Given the description of an element on the screen output the (x, y) to click on. 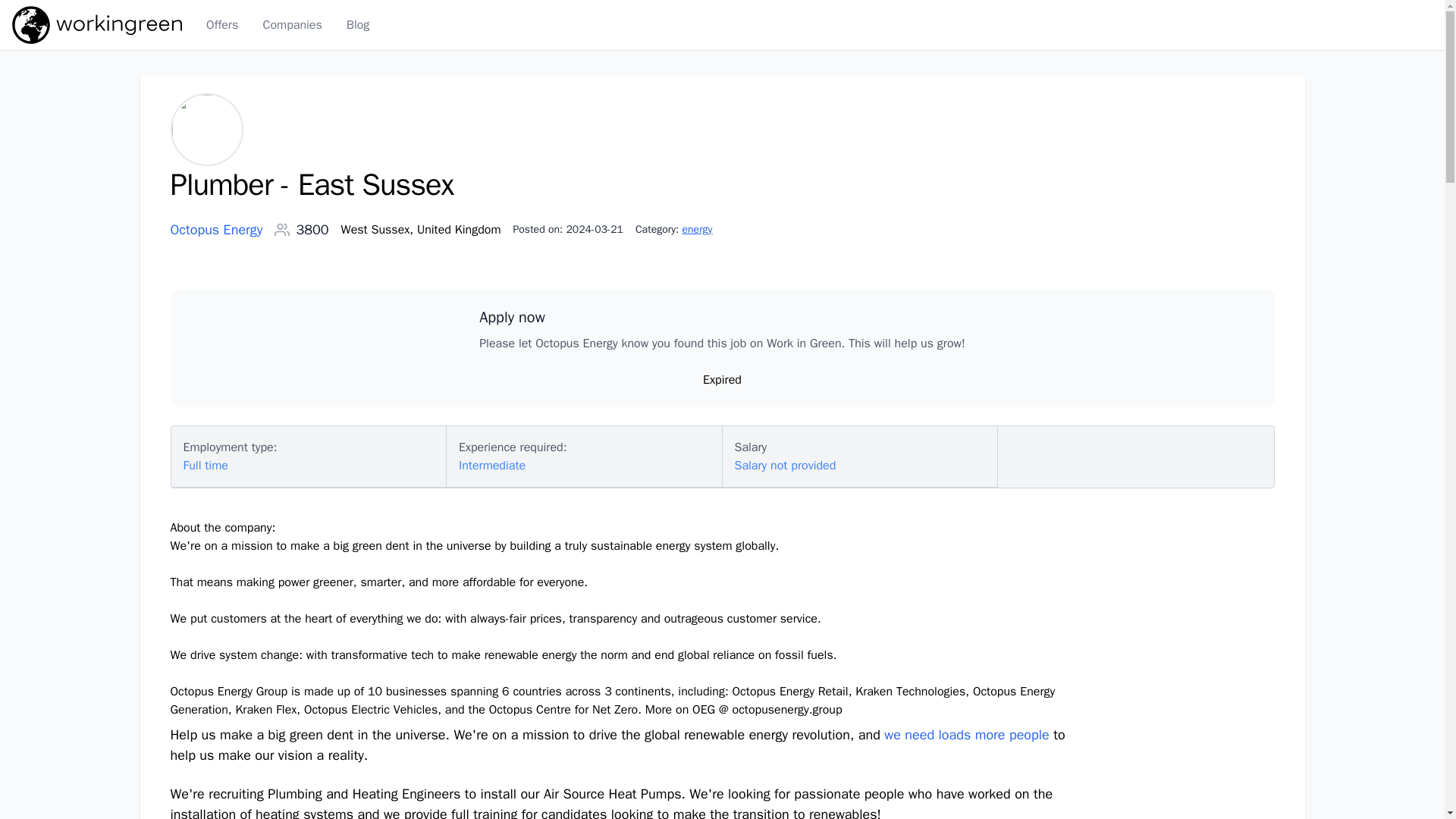
energy (696, 228)
Octopus Energy (216, 229)
Blog (357, 24)
we need loads more people (965, 735)
Work In Green (96, 24)
Offers (222, 24)
Companies (291, 24)
